Given the description of an element on the screen output the (x, y) to click on. 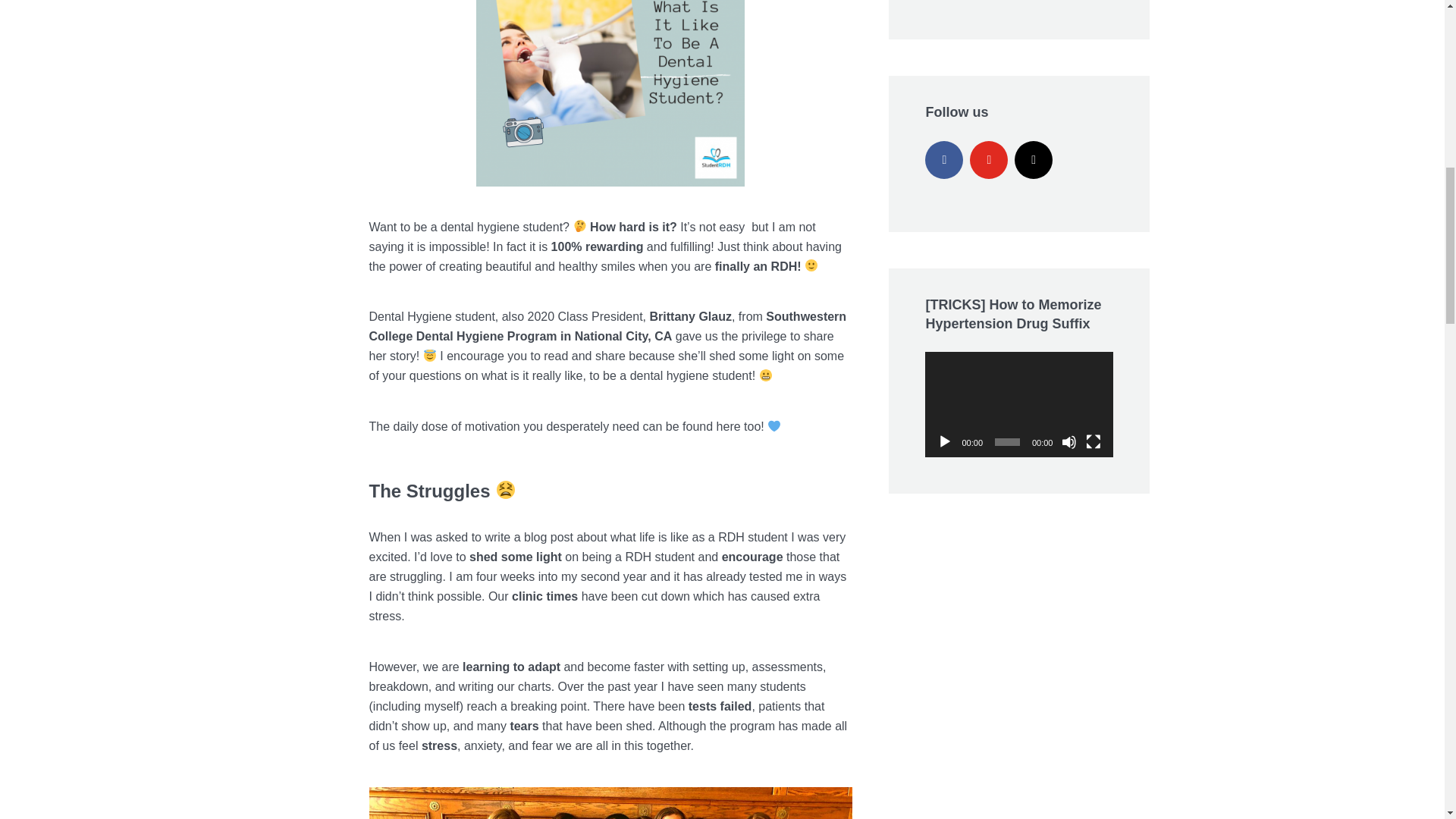
facebook (943, 159)
Instagram (1033, 159)
YouTube (988, 159)
Mute (1069, 441)
instagram (1033, 159)
Play (944, 441)
youtube (988, 159)
Fullscreen (1093, 441)
Facebook (943, 159)
